Given the description of an element on the screen output the (x, y) to click on. 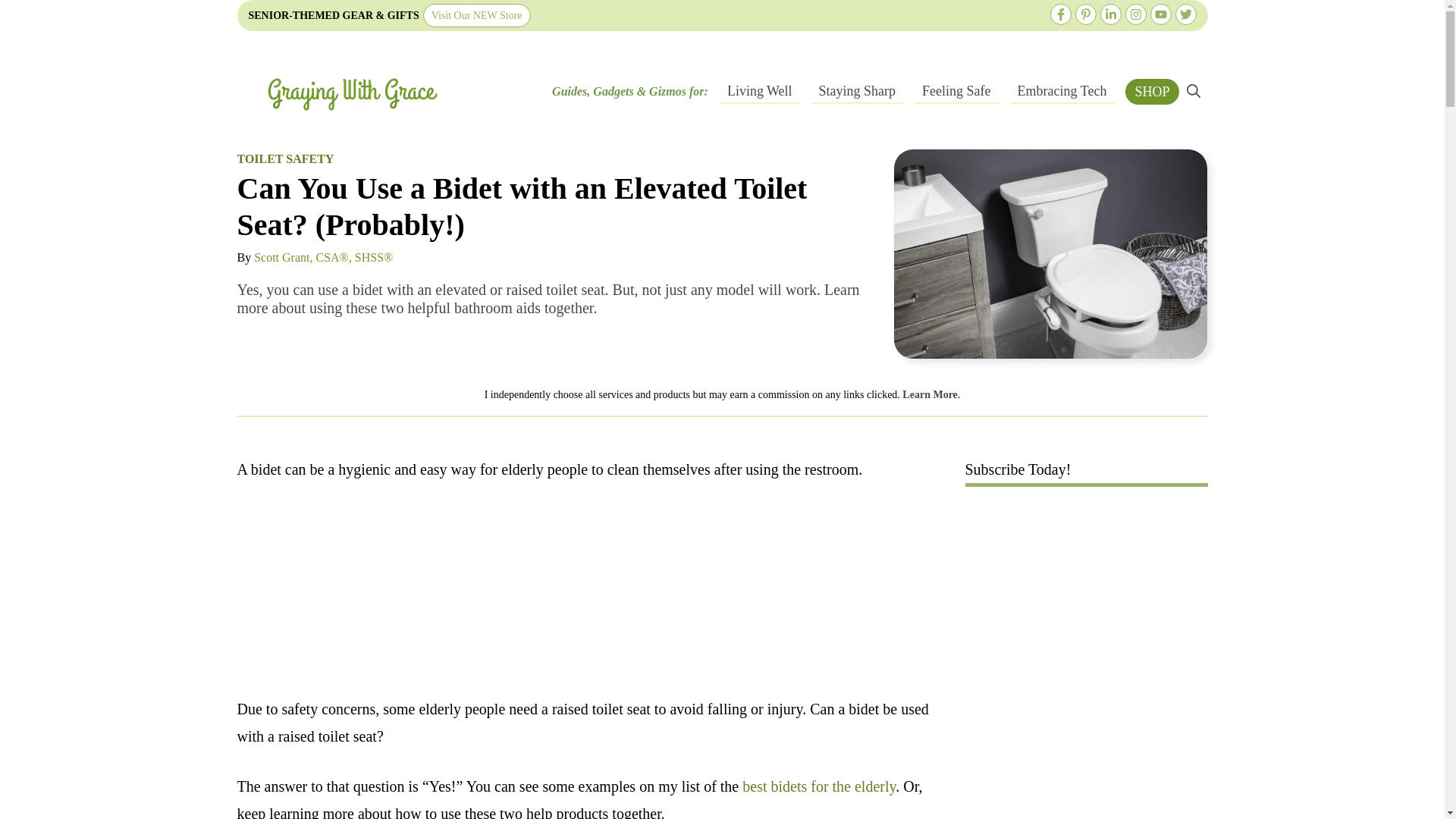
Learn More (929, 394)
best bidets for the elderly (818, 786)
Visit Our NEW Store (477, 15)
Living Well (759, 91)
TOILET SAFETY (284, 158)
Feeling Safe (955, 91)
SHOP (1151, 91)
Embracing Tech (1062, 91)
Staying Sharp (857, 91)
